Given the description of an element on the screen output the (x, y) to click on. 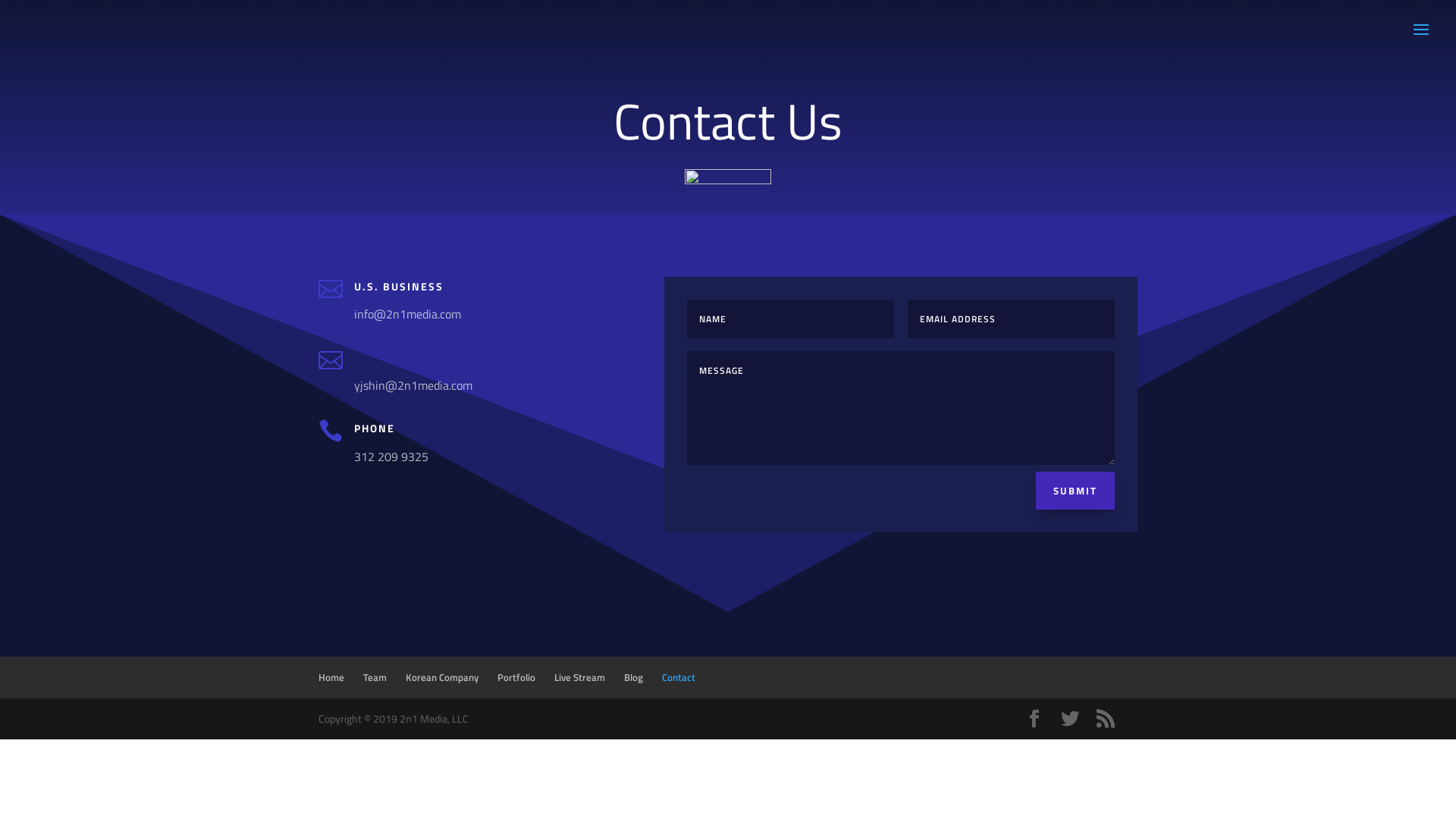
Home Element type: text (331, 676)
Contact Element type: text (678, 676)
SUBMIT Element type: text (1074, 490)
Korean Company Element type: text (441, 676)
Team Element type: text (374, 676)
Portfolio Element type: text (516, 676)
Live Stream Element type: text (579, 676)
Blog Element type: text (633, 676)
